Given the description of an element on the screen output the (x, y) to click on. 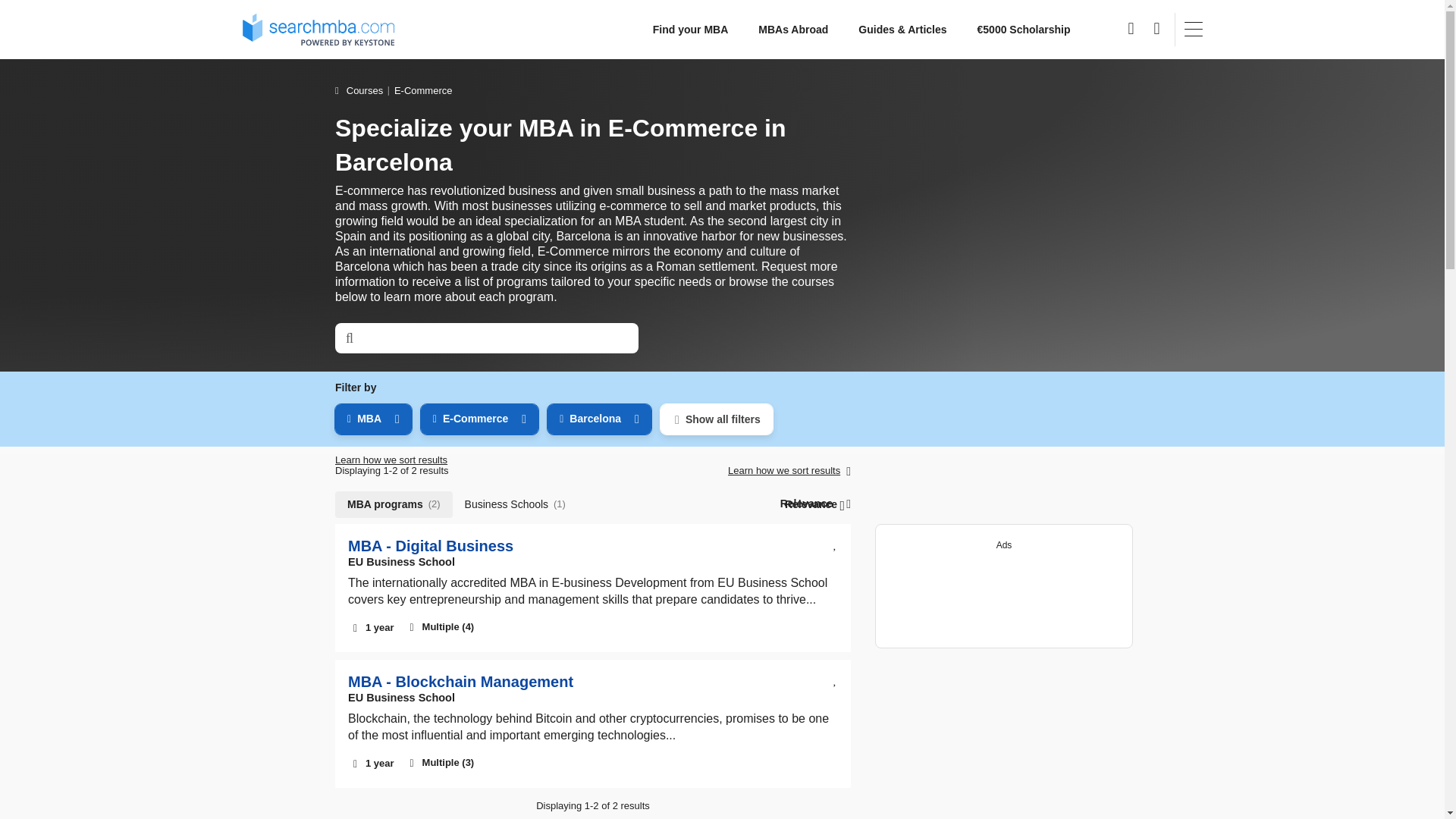
Find your MBA (690, 29)
MBAs Abroad (792, 29)
searchmba.com homepage (318, 28)
Find your MBA (690, 29)
MBA Guidance - Helping you to find the right MBA! (901, 29)
